Given the description of an element on the screen output the (x, y) to click on. 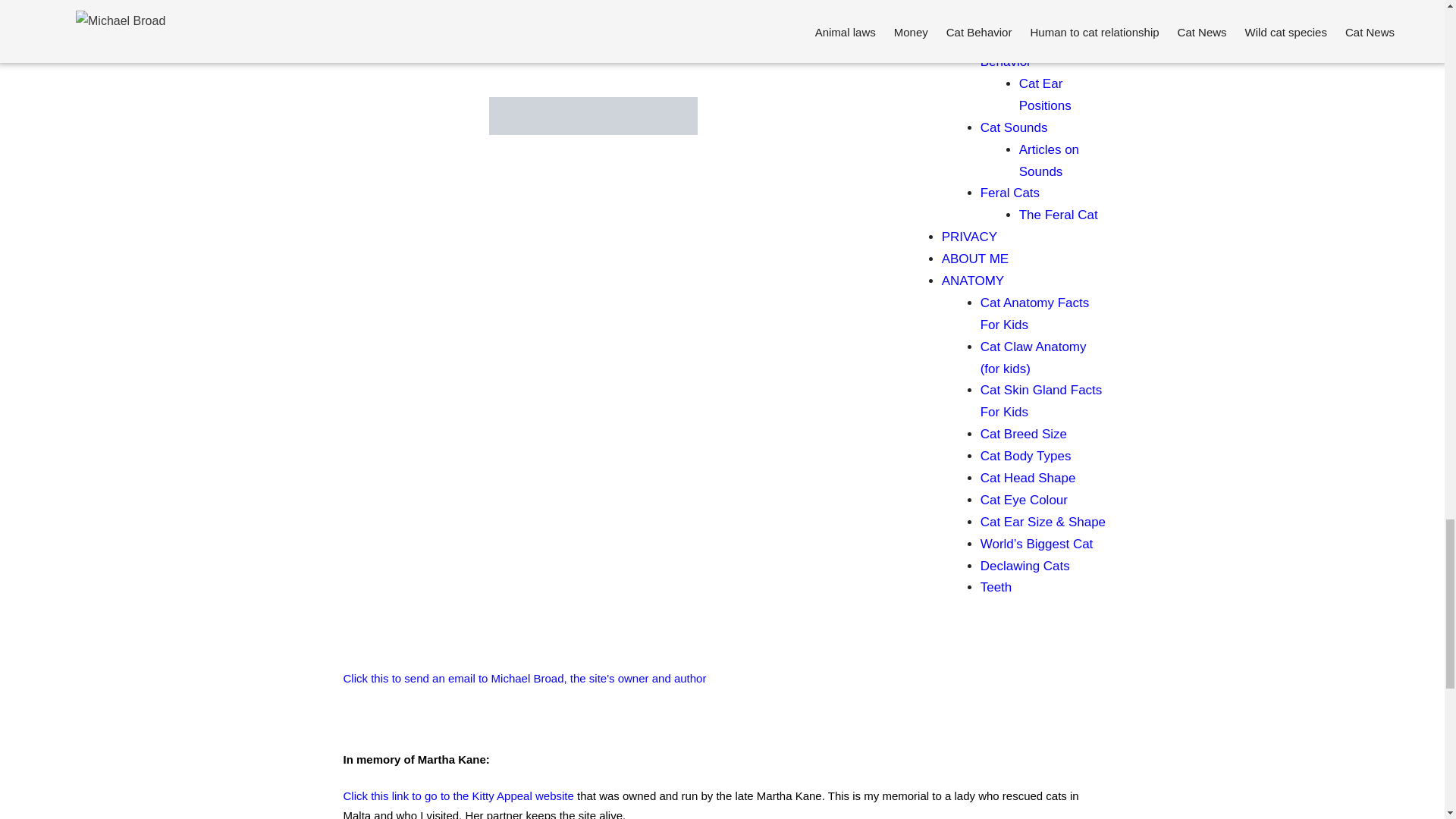
Post Comment (383, 26)
Post Comment (383, 26)
